Given the description of an element on the screen output the (x, y) to click on. 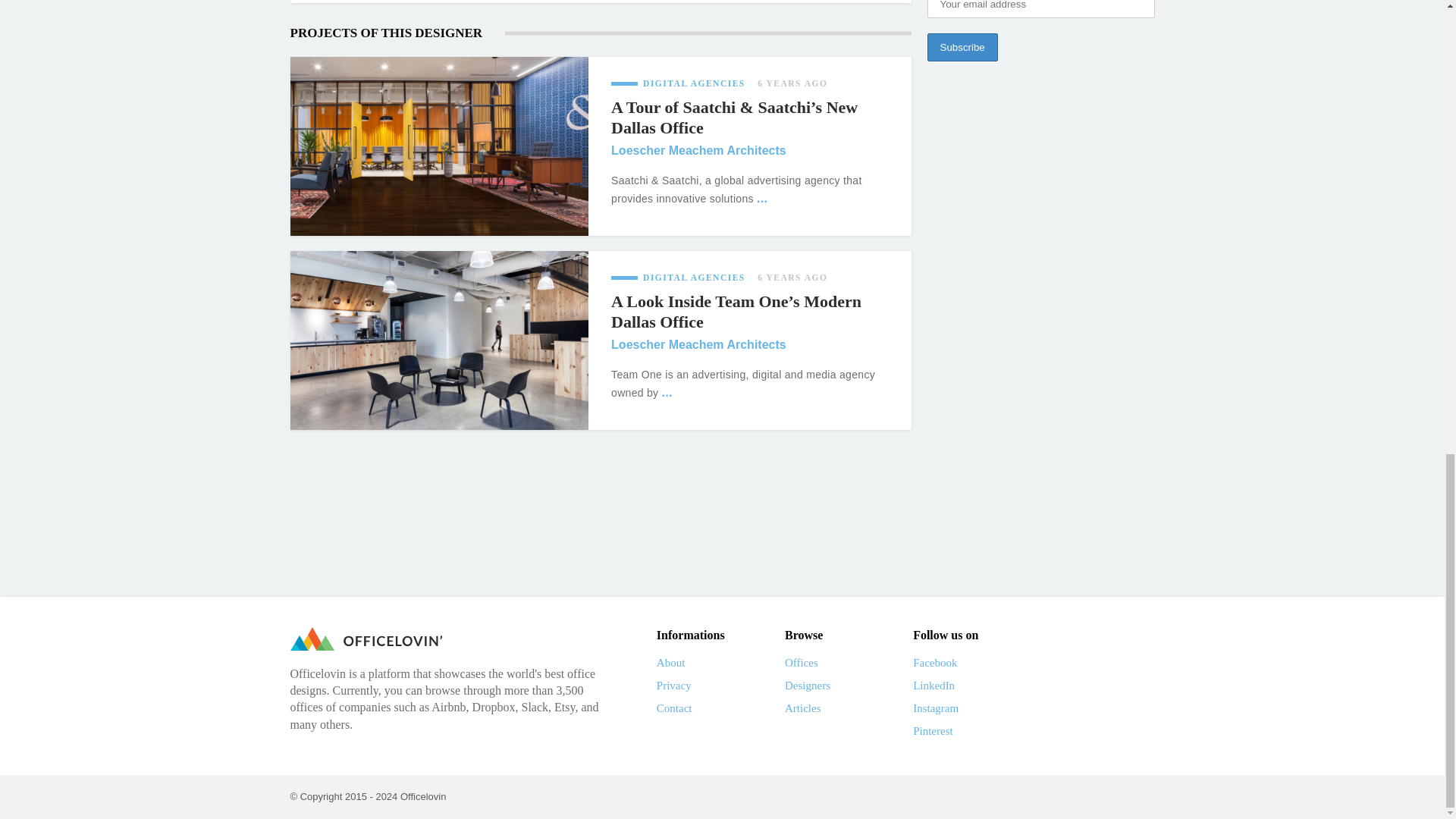
Subscribe (961, 47)
